Given the description of an element on the screen output the (x, y) to click on. 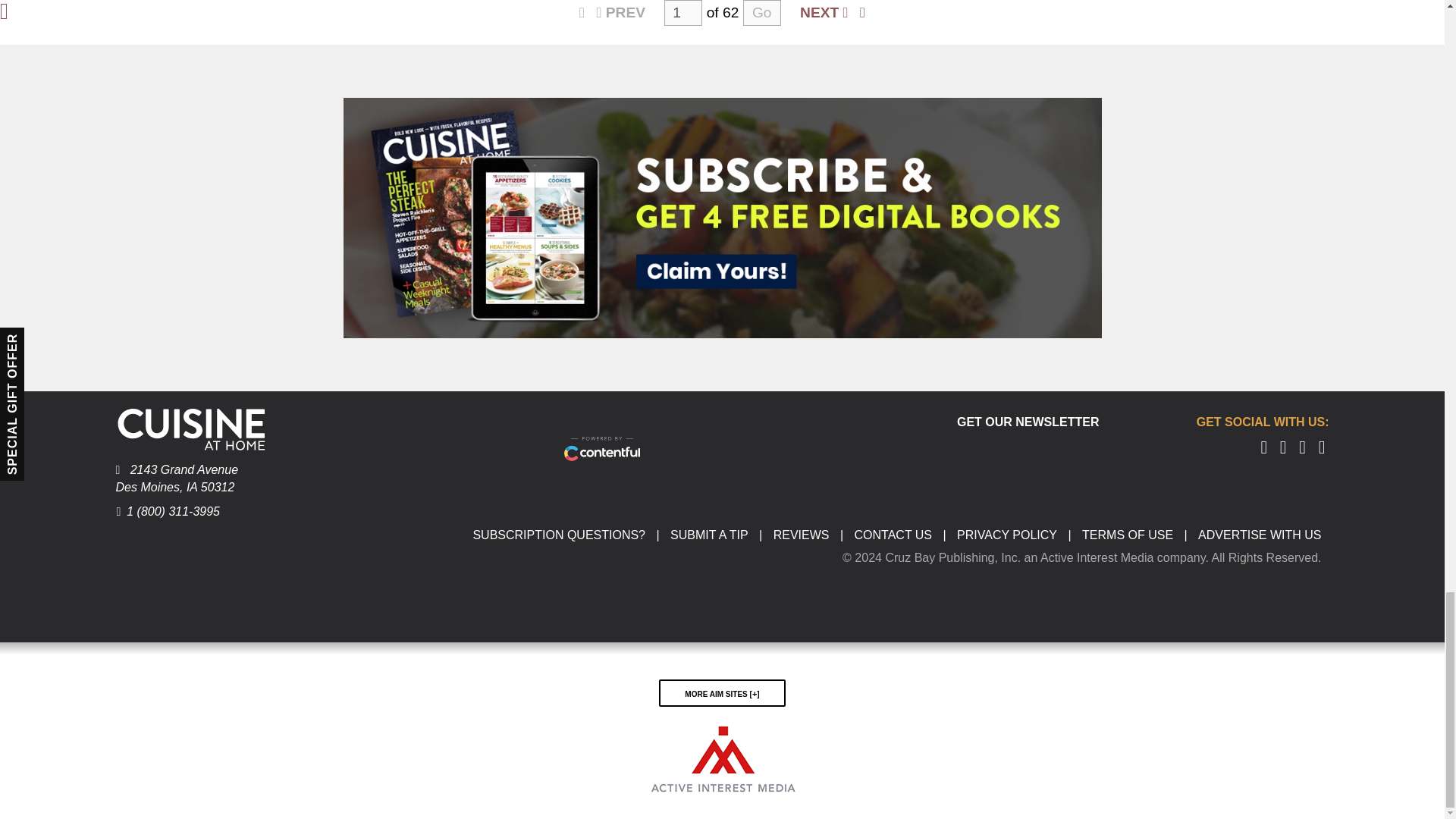
1 (682, 12)
Go (761, 12)
Cuisine at Home (190, 428)
